Given the description of an element on the screen output the (x, y) to click on. 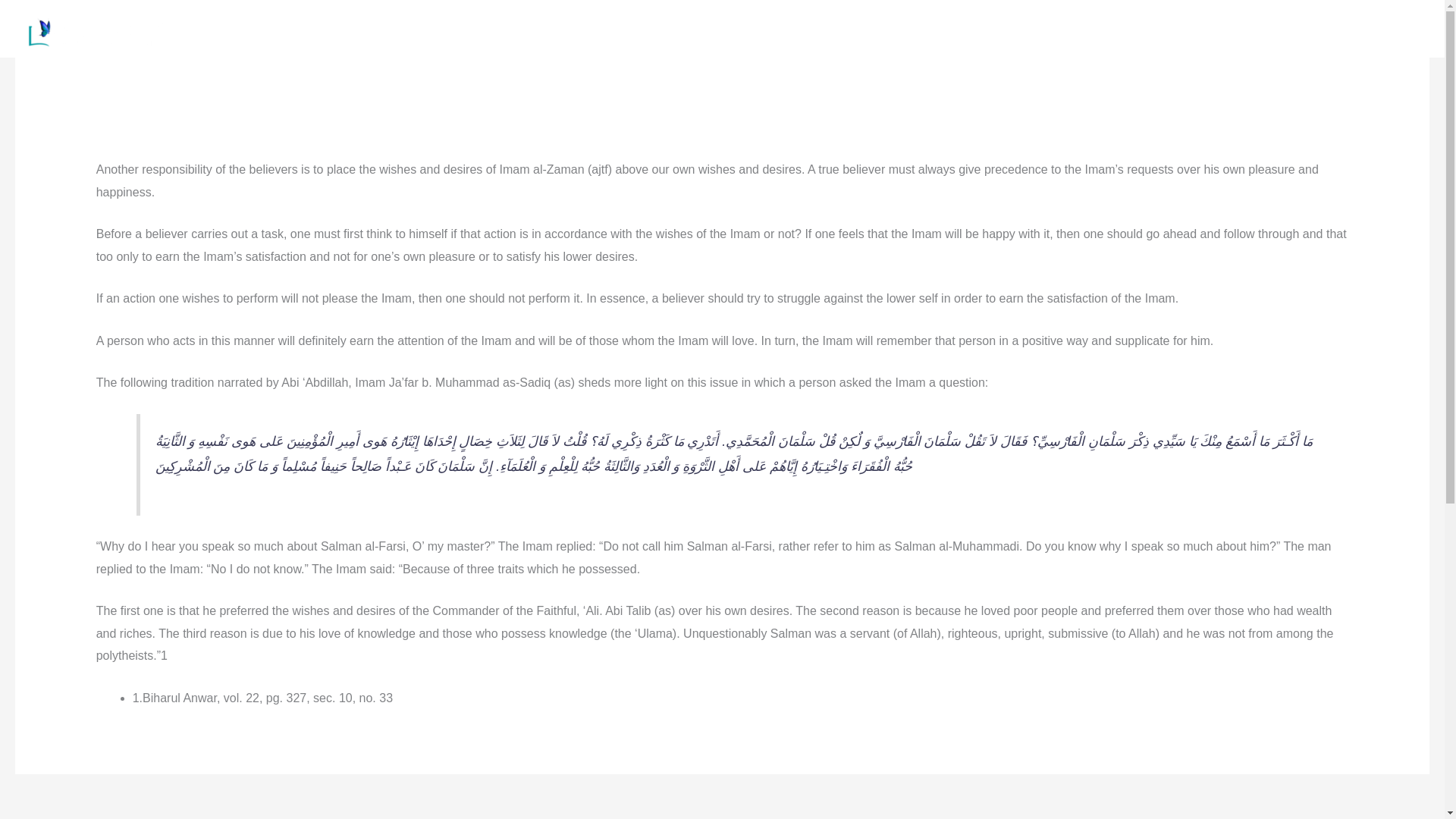
Duas (1072, 25)
About (817, 25)
Donate (1223, 25)
Home (761, 25)
Get Involved (1145, 25)
IMAC Shop (1297, 25)
